Given the description of an element on the screen output the (x, y) to click on. 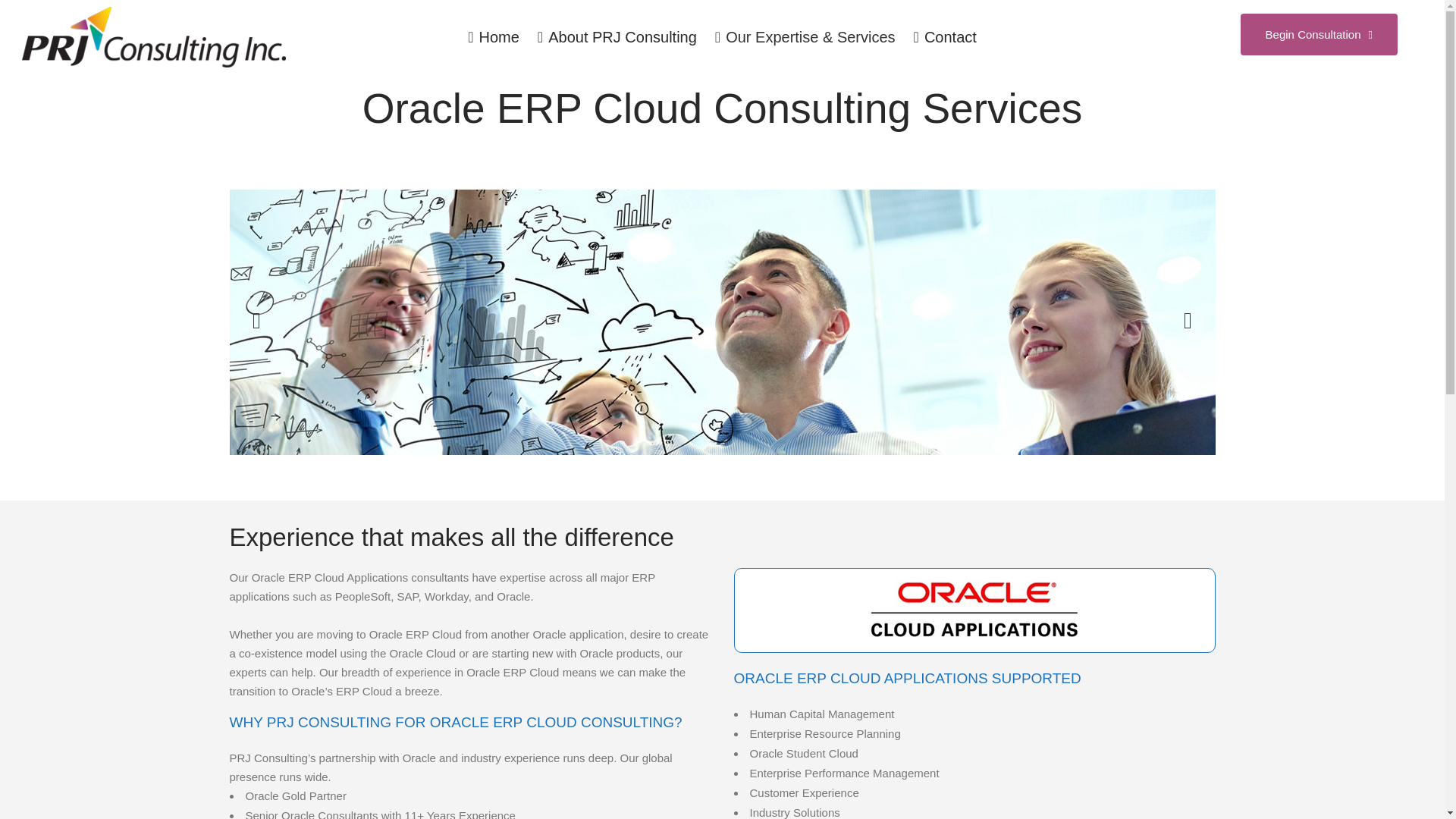
Home (493, 37)
About PRJ Consulting (617, 37)
Begin Consultation (1318, 34)
oracle-erp-cloud (114, 322)
Contact (944, 37)
